Given the description of an element on the screen output the (x, y) to click on. 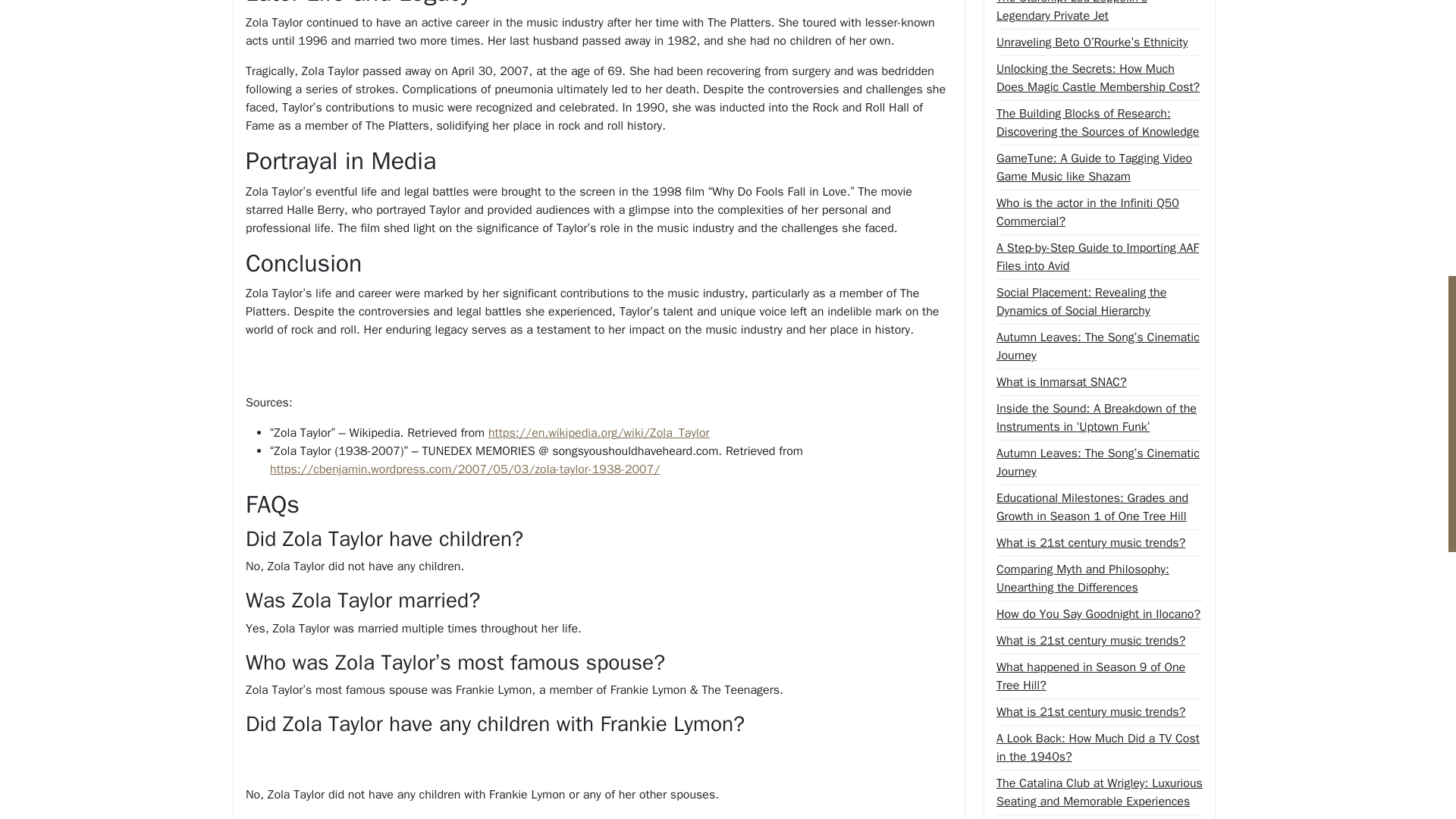
A Step-by-Step Guide to Importing AAF Files into Avid (1098, 257)
Who is the actor in the Infiniti Q50 Commercial? (1098, 212)
GameTune: A Guide to Tagging Video Game Music like Shazam (1098, 167)
Social Placement: Revealing the Dynamics of Social Hierarchy (1098, 301)
What is Inmarsat SNAC? (1060, 382)
